Given the description of an element on the screen output the (x, y) to click on. 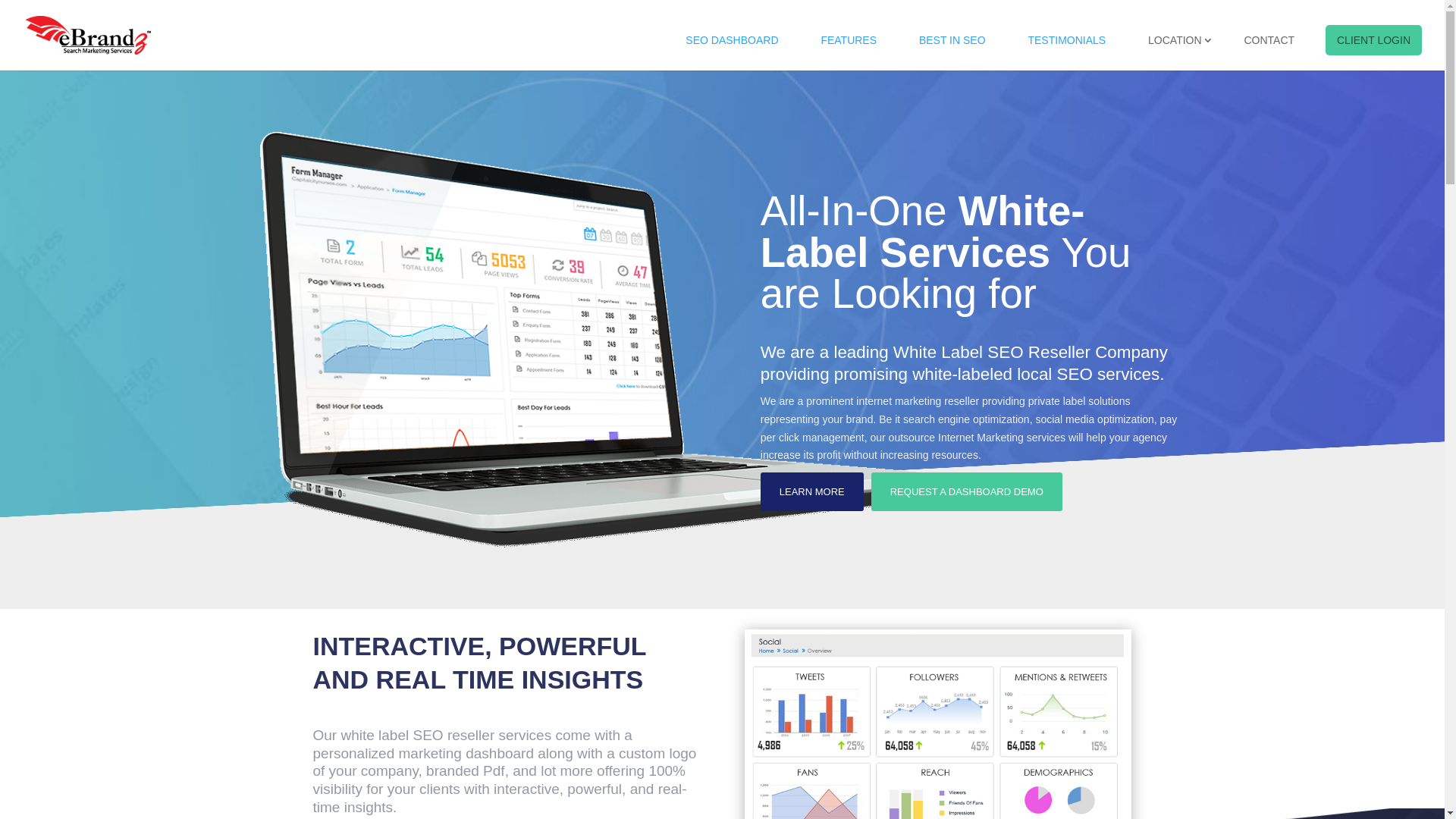
CLIENT LOGIN Element type: text (1373, 40)
REQUEST A DASHBOARD DEMO Element type: text (966, 491)
FEATURES Element type: text (848, 40)
CONTACT Element type: text (1268, 40)
SEO DASHBOARD Element type: text (731, 40)
TESTIMONIALS Element type: text (1066, 40)
BEST IN SEO Element type: text (952, 40)
LOCATION Element type: text (1174, 40)
LEARN MORE Element type: text (811, 491)
